Given the description of an element on the screen output the (x, y) to click on. 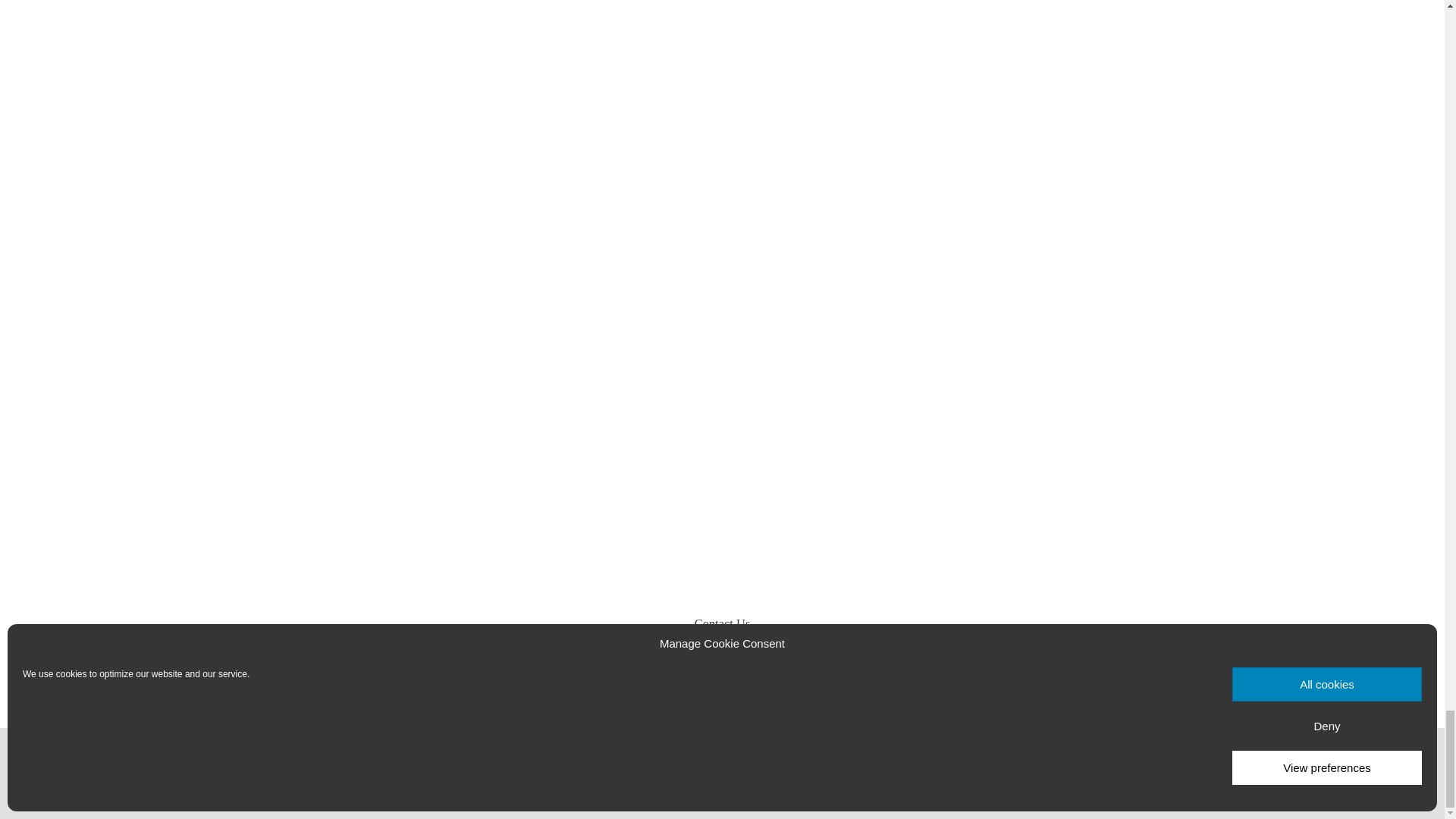
Website Cookies (871, 661)
Privacy Policy (567, 661)
Contact Us (722, 623)
Cancellation Policy (772, 661)
